Given the description of an element on the screen output the (x, y) to click on. 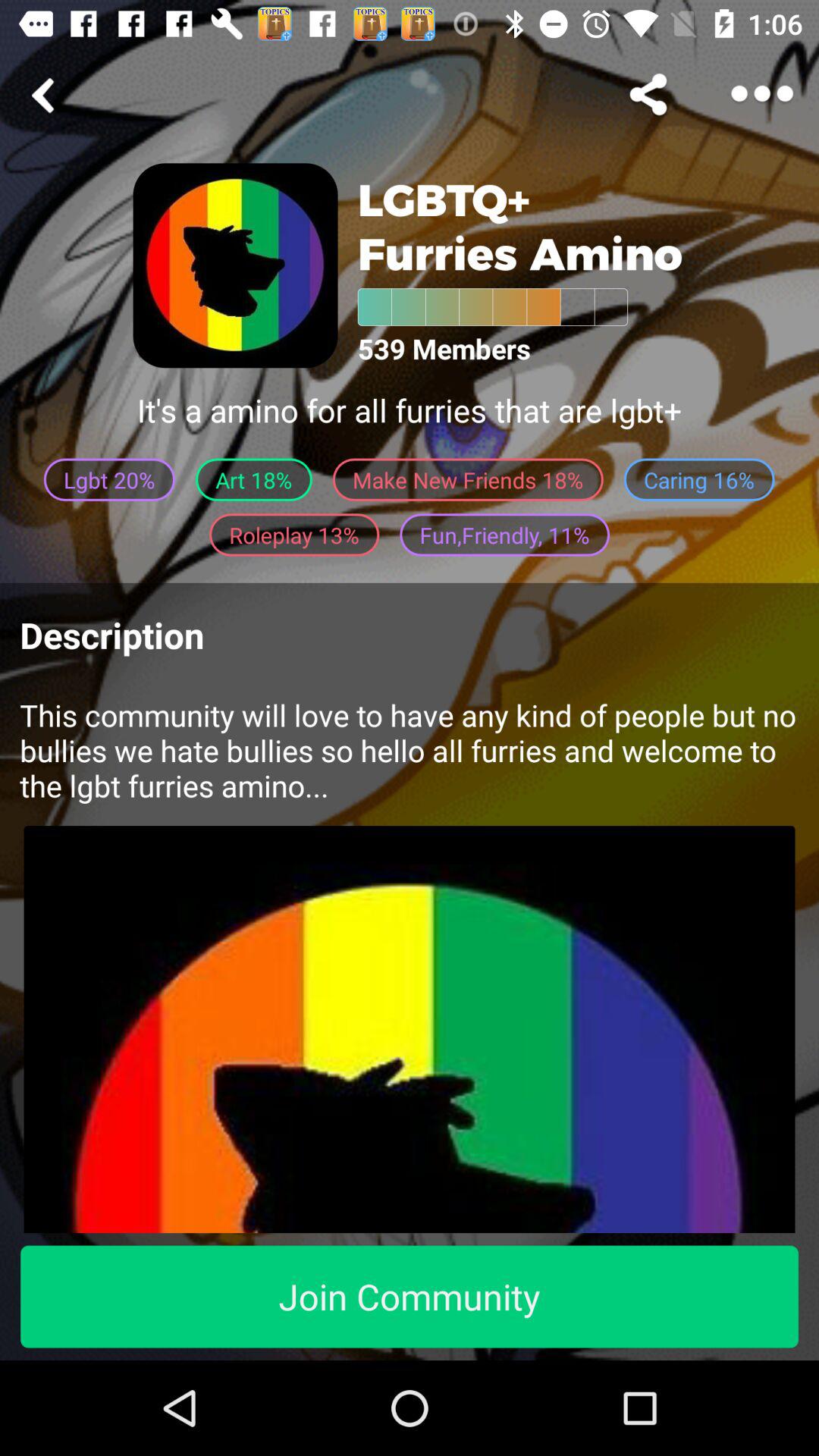
go back (45, 95)
